Given the description of an element on the screen output the (x, y) to click on. 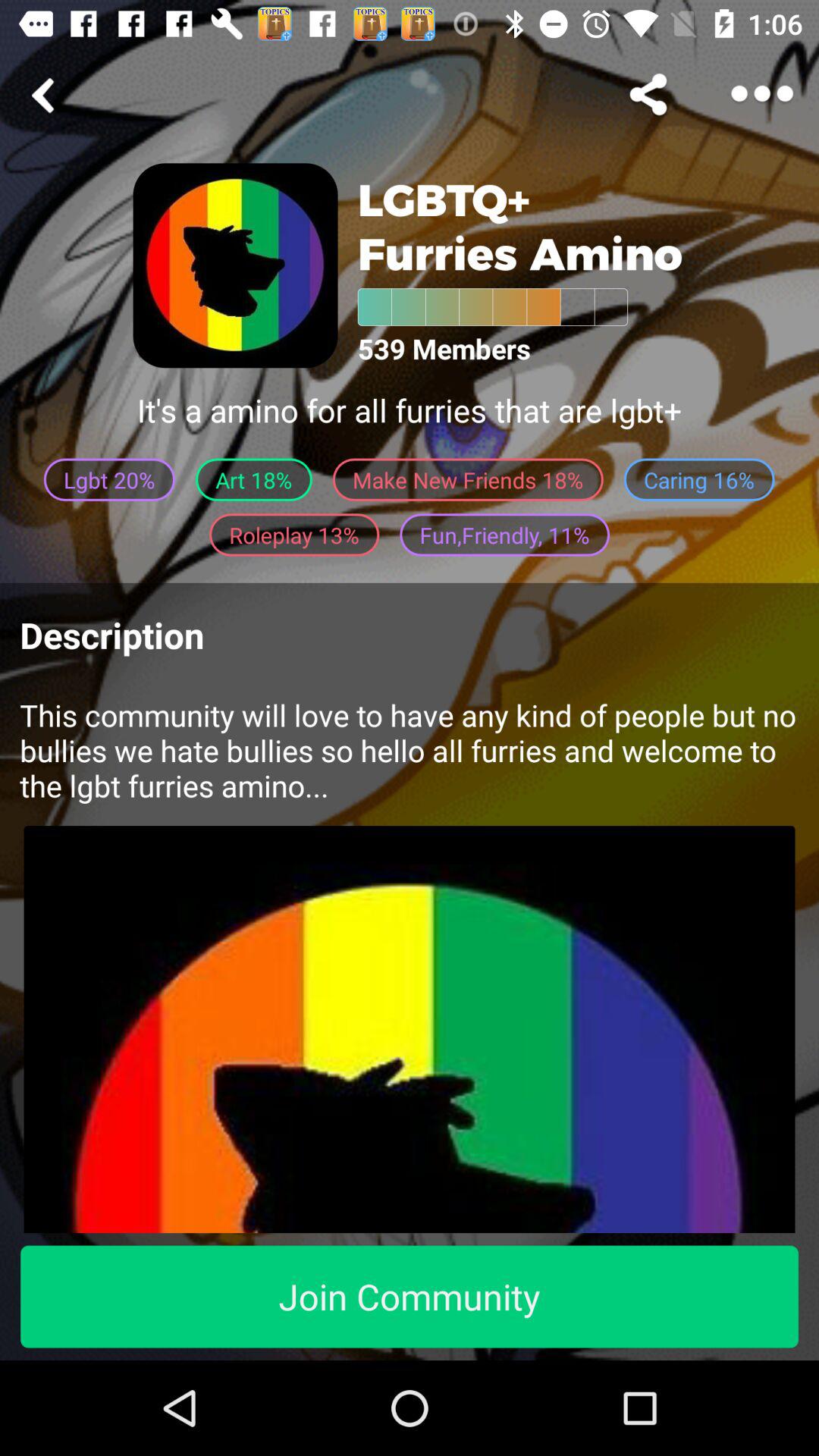
go back (45, 95)
